Given the description of an element on the screen output the (x, y) to click on. 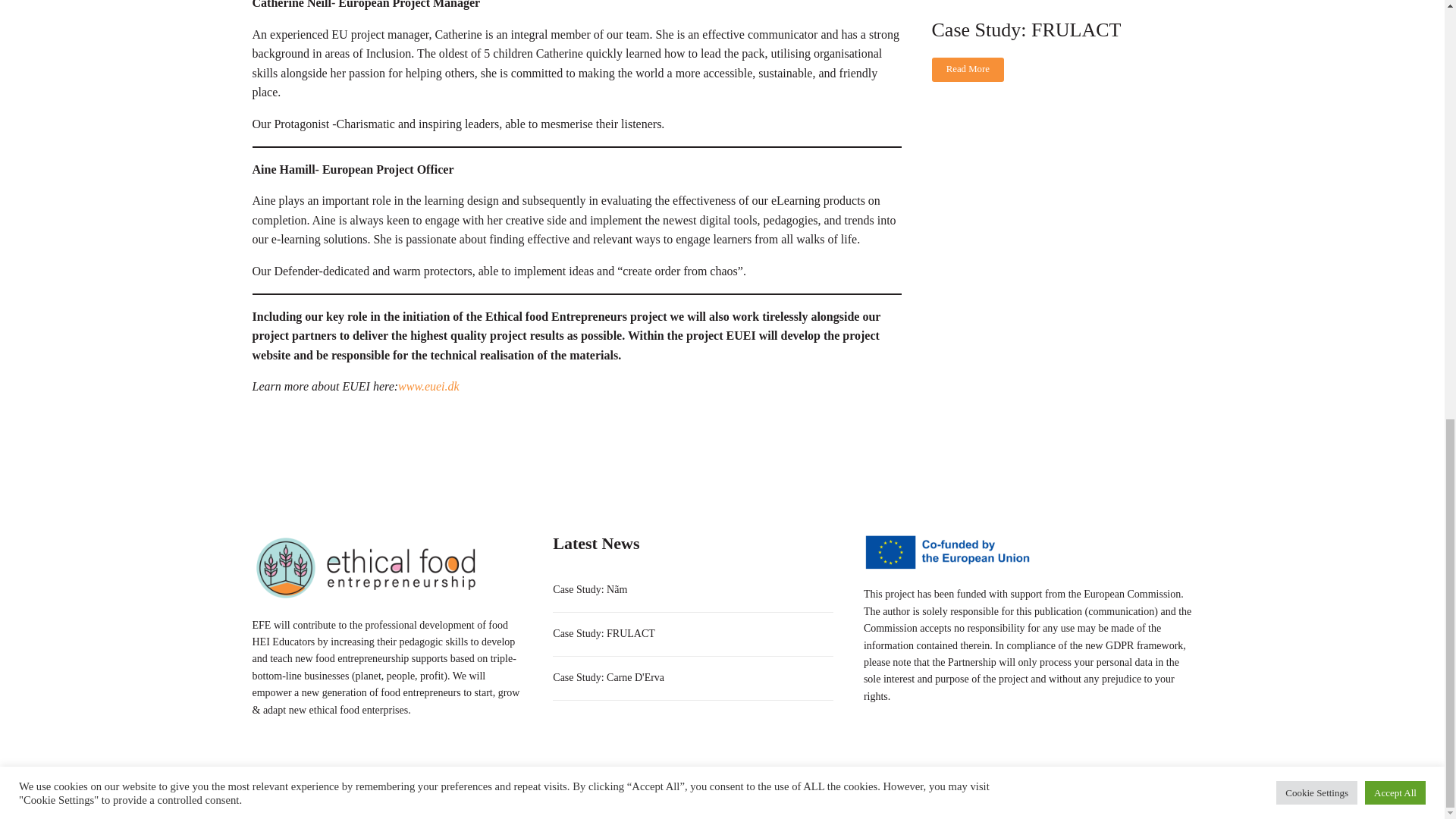
www.euei.dk (428, 386)
October 11, 2023 (1061, 1)
Read More (967, 69)
Case Study: FRULACT (1026, 29)
